Given the description of an element on the screen output the (x, y) to click on. 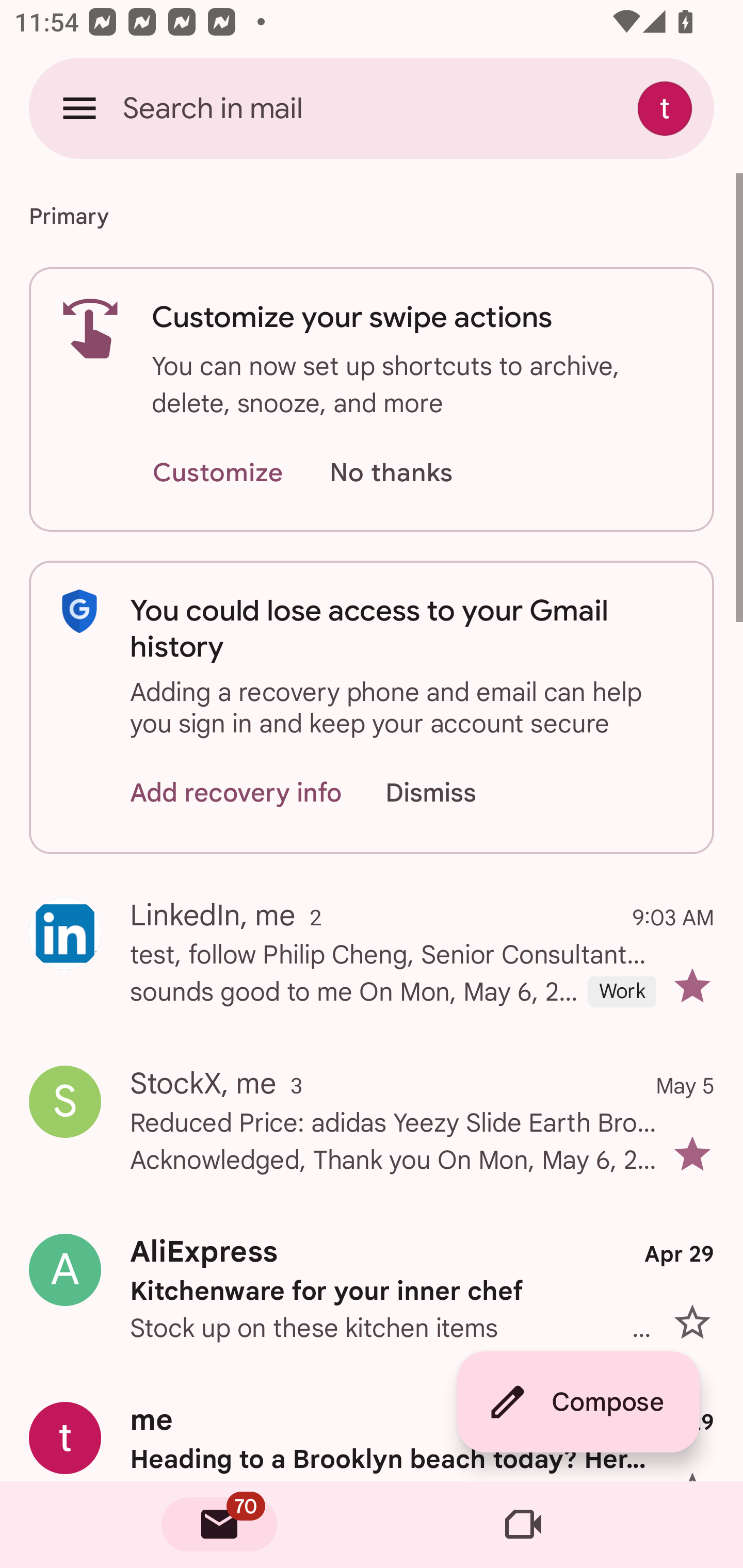
Open navigation drawer (79, 108)
Customize (217, 473)
No thanks (390, 473)
Add recovery info (235, 792)
Dismiss (449, 792)
Compose (577, 1401)
Meet (523, 1524)
